Given the description of an element on the screen output the (x, y) to click on. 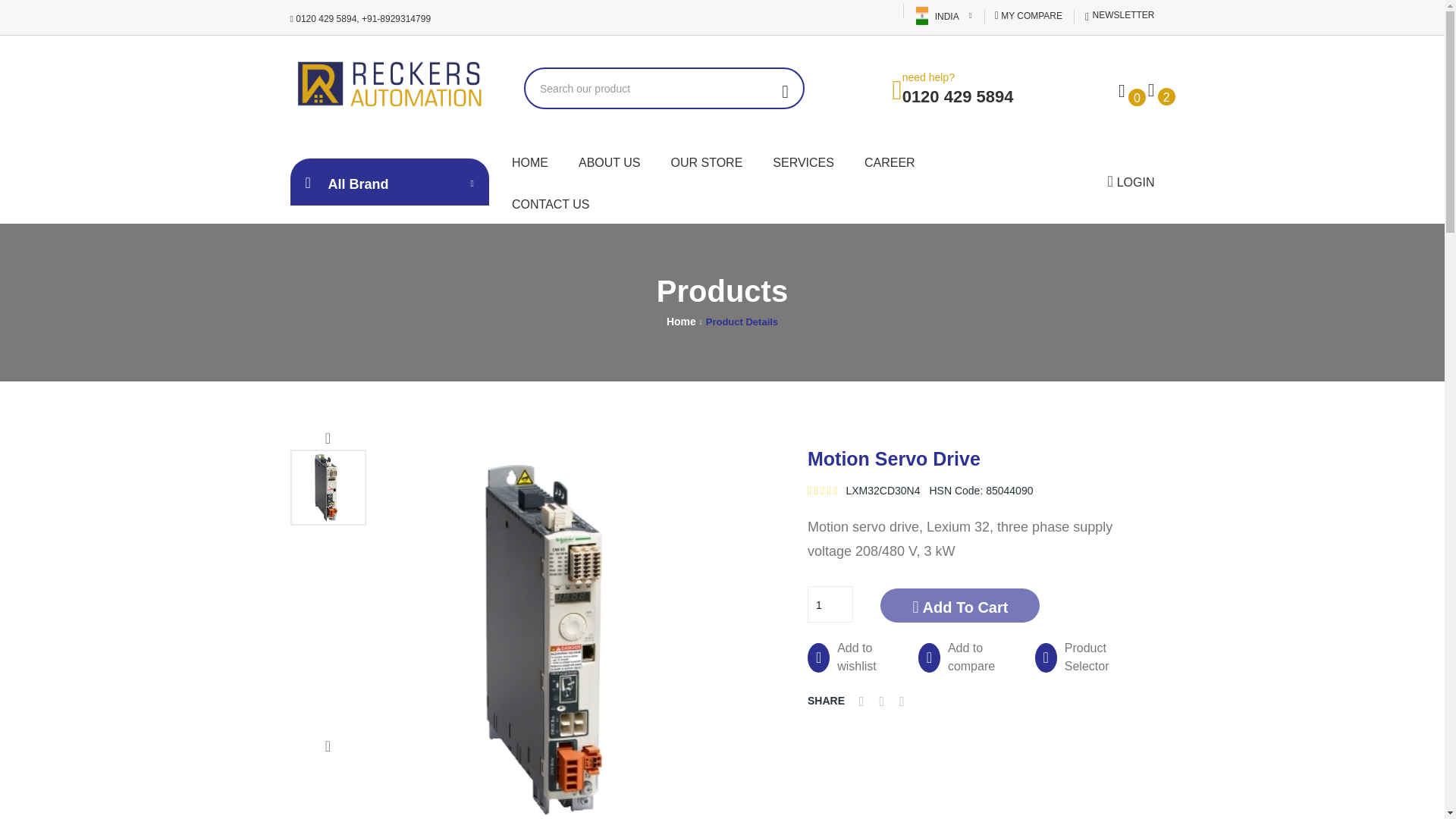
All Brand (389, 181)
NEWSLETTER (1119, 14)
MY COMPARE (1028, 15)
0120 429 5894 (957, 96)
INDIA (942, 16)
1 (830, 604)
Quantity (830, 604)
